Given the description of an element on the screen output the (x, y) to click on. 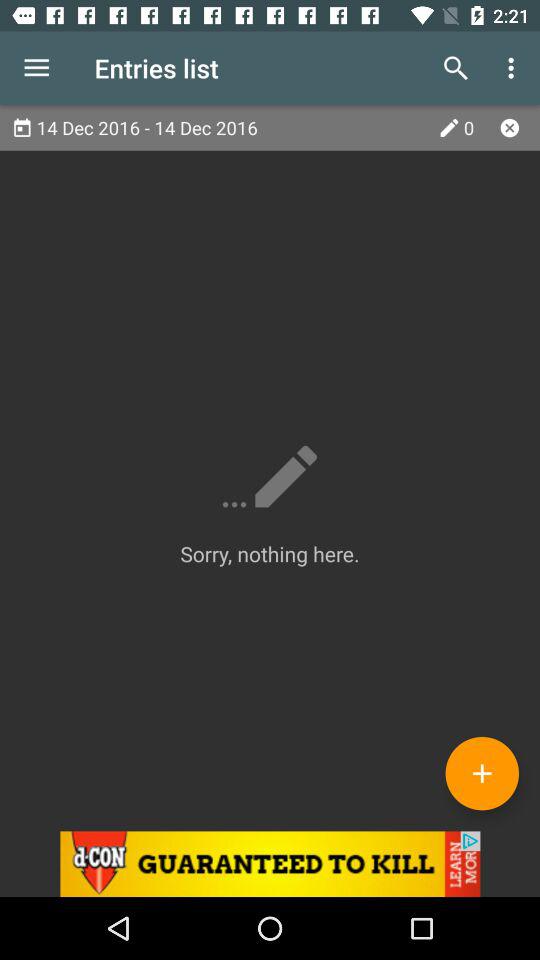
add entry (482, 773)
